Given the description of an element on the screen output the (x, y) to click on. 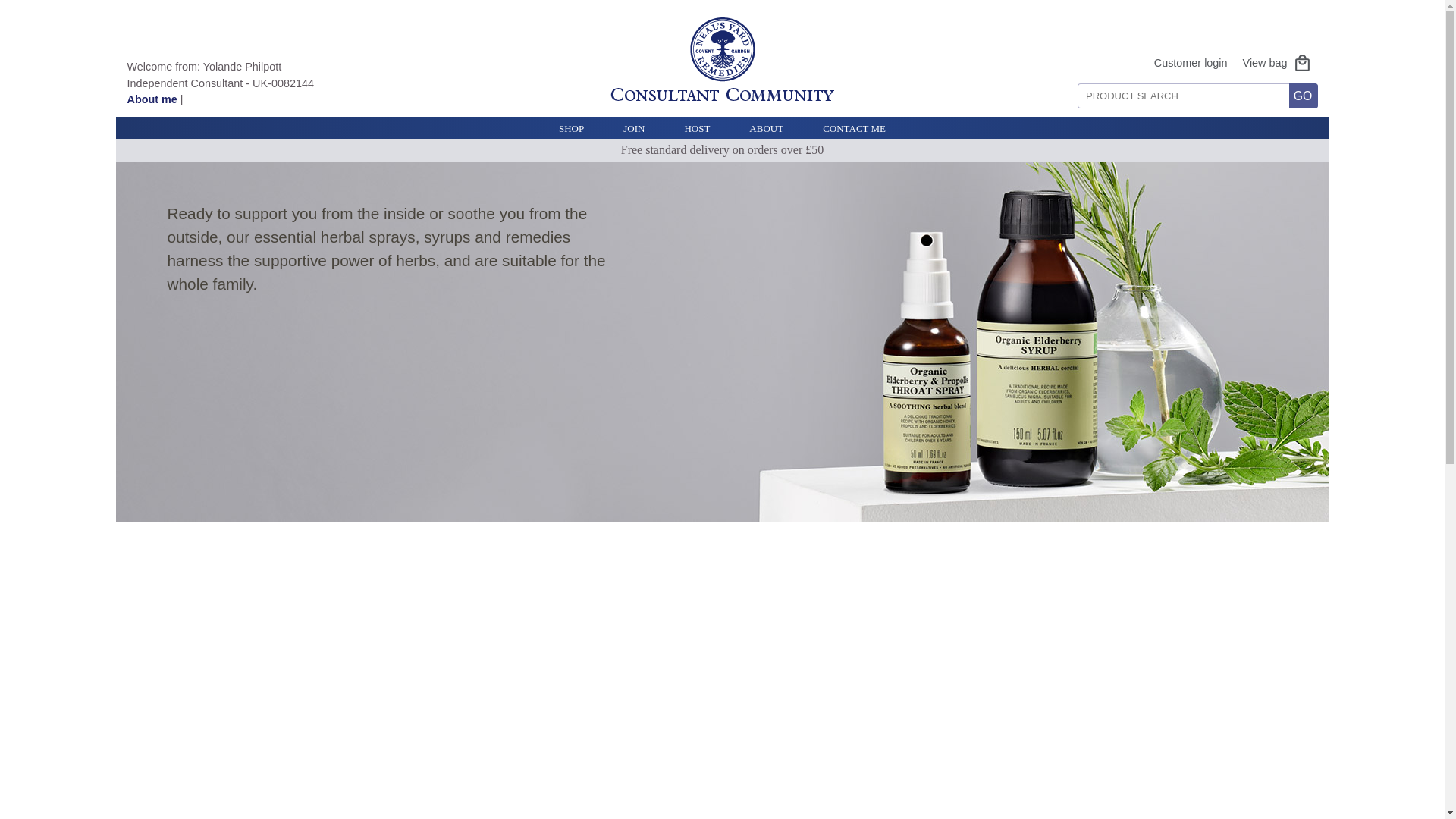
Go (1302, 95)
About me (152, 99)
Go (1302, 95)
View bag   (1280, 62)
SHOP (571, 127)
Customer login (1190, 62)
View Cart (1280, 62)
Customer login (1190, 62)
